Given the description of an element on the screen output the (x, y) to click on. 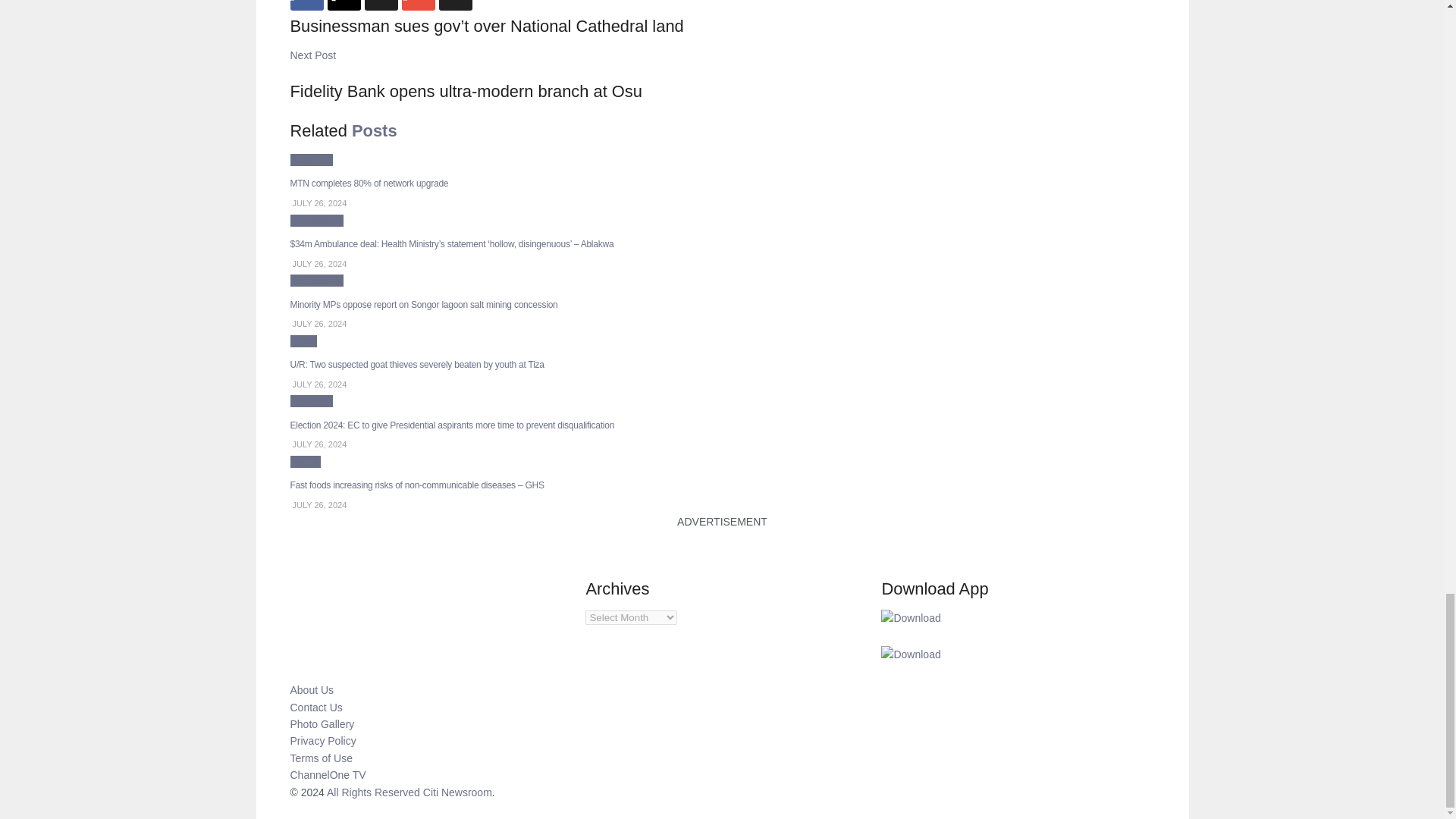
App Store (910, 654)
Citi Newsroom (457, 792)
Google Play (910, 617)
Citi Newsroom (373, 792)
